Given the description of an element on the screen output the (x, y) to click on. 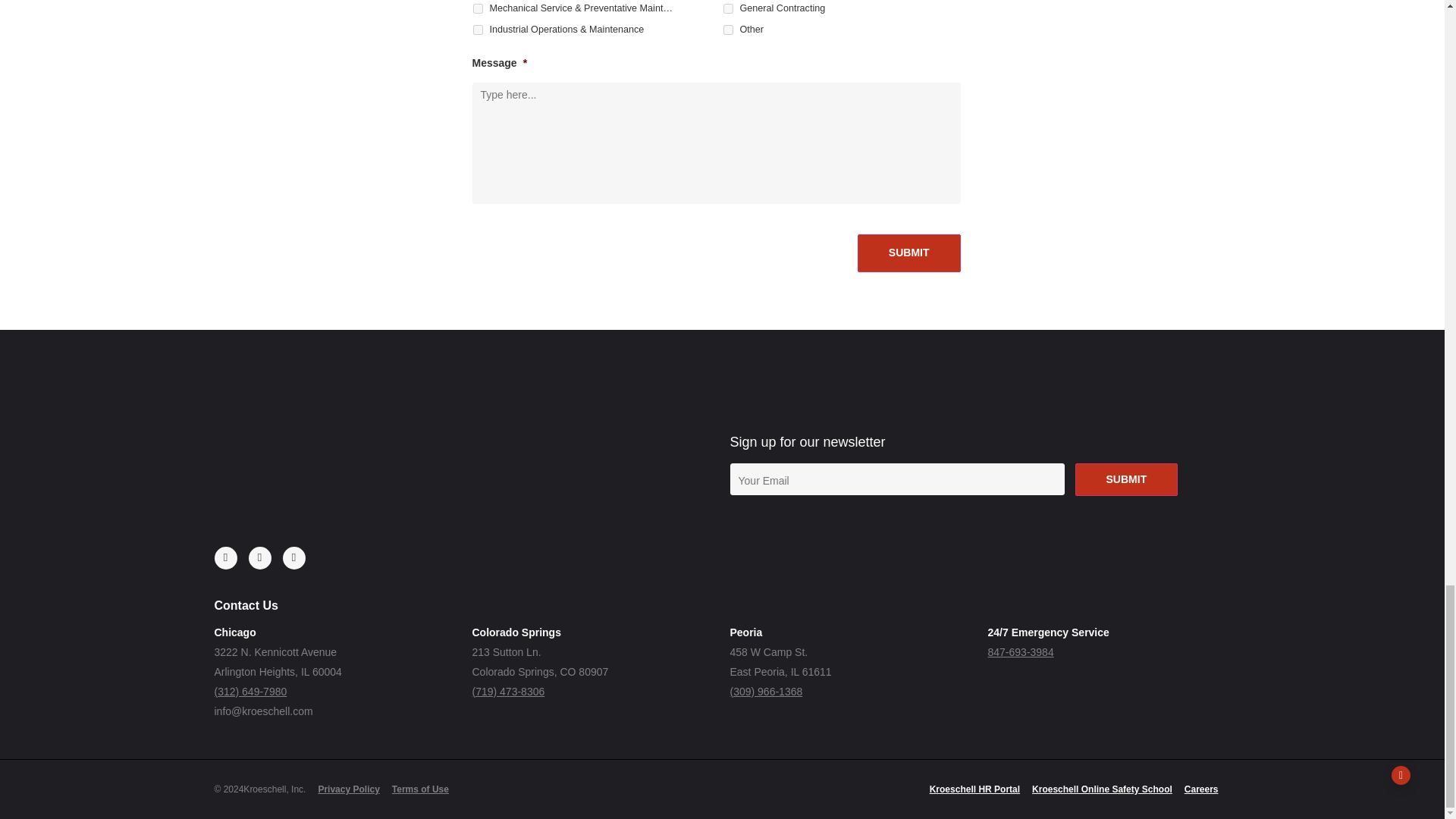
Submit (1126, 479)
Other (728, 30)
Submit (908, 252)
General Contracting (728, 8)
